Given the description of an element on the screen output the (x, y) to click on. 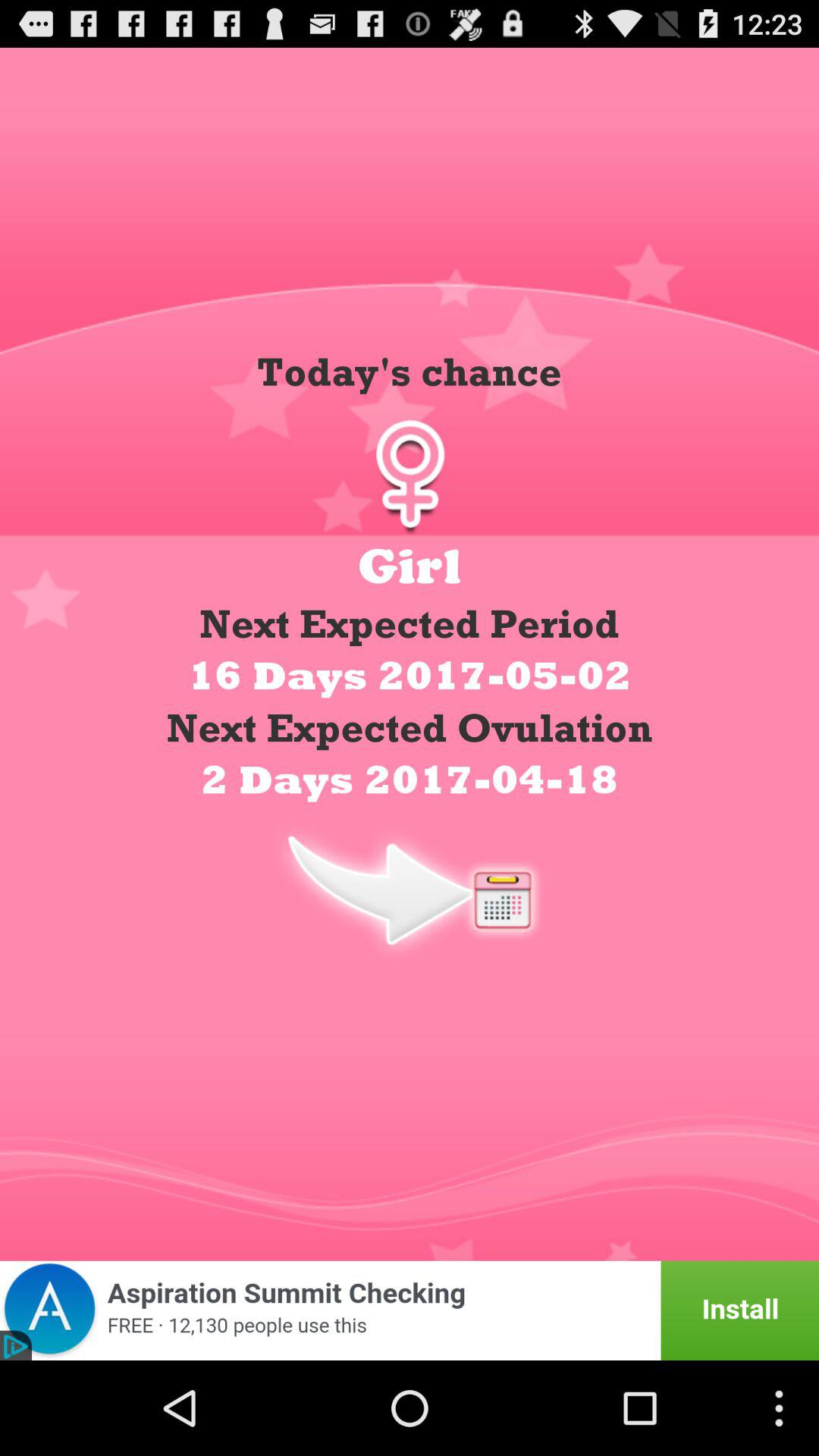
calendar date display (409, 889)
